Given the description of an element on the screen output the (x, y) to click on. 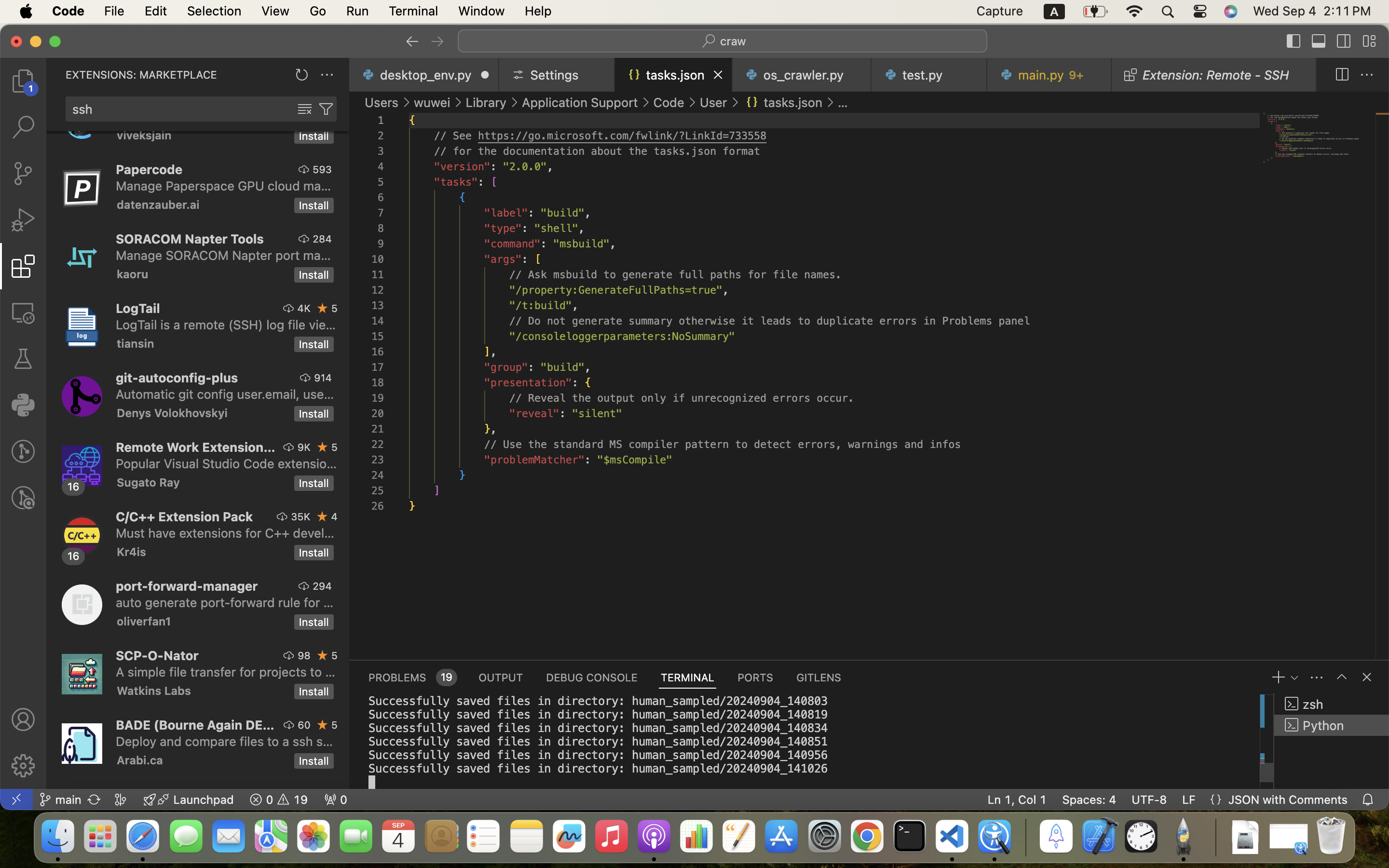
0 PROBLEMS 19 Element type: AXRadioButton (411, 676)
Manage Paperspace GPU cloud machines directly from VS Code. Open with just one click a remote VS Code session, streamlining your machine learning & data science process and increasing productivity. Element type: AXStaticText (223, 185)
35K Element type: AXStaticText (300, 516)
0 Settings   Element type: AXRadioButton (557, 74)
 Element type: AXGroup (23, 451)
